Given the description of an element on the screen output the (x, y) to click on. 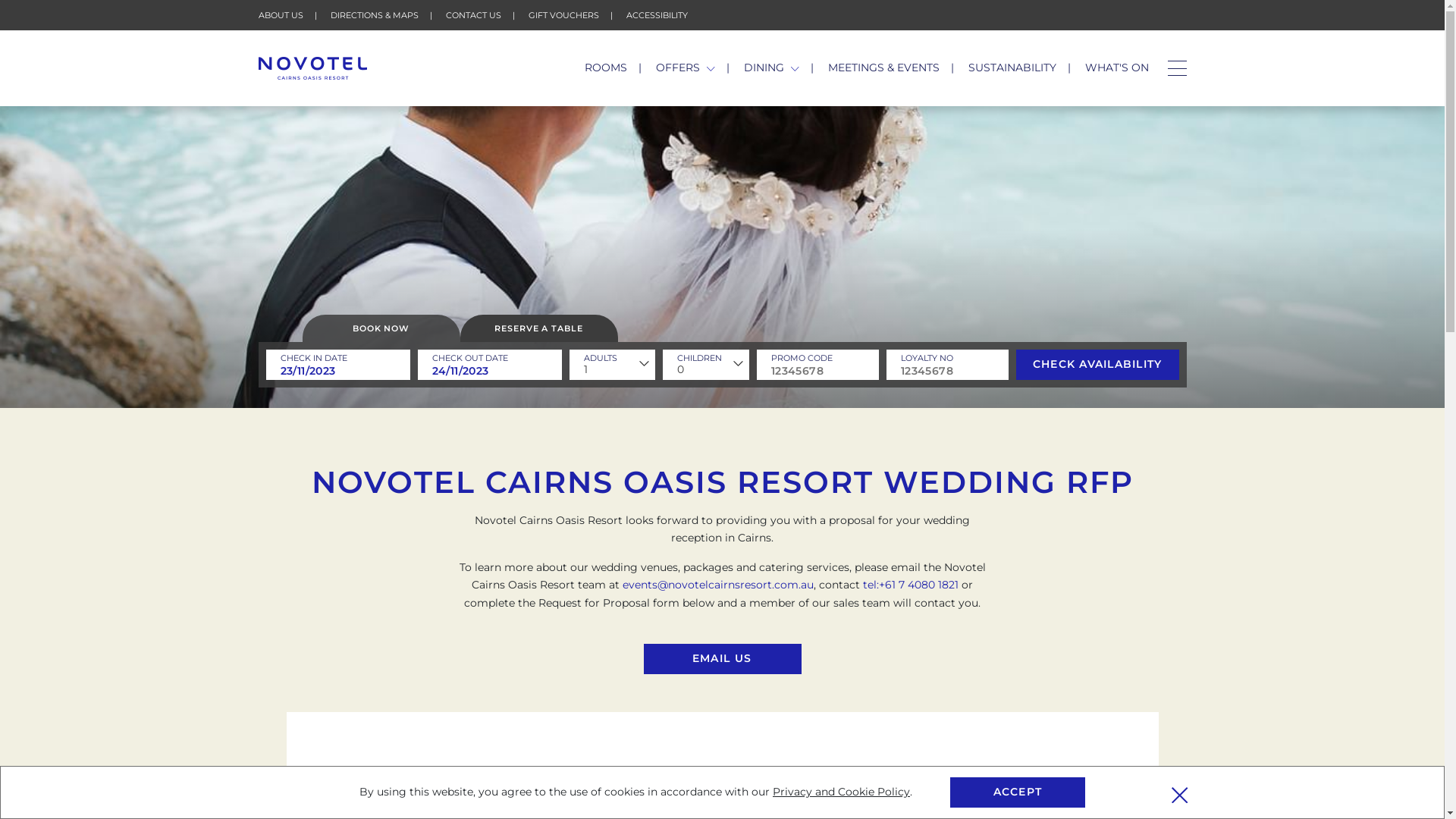
GIFT VOUCHERS
OPENS IN A NEW TAB. Element type: text (562, 14)
ACCESSIBILITY
OPENS IN A NEW TAB. Element type: text (656, 14)
DINING Element type: text (771, 67)
SUSTAINABILITY Element type: text (1011, 67)
RESERVE A TABLE Element type: text (538, 328)
MEETINGS & EVENTS Element type: text (883, 67)
ROOMS Element type: text (605, 67)
ACCEPT Element type: text (1017, 792)
CHECK AVAILABILITY Element type: text (1097, 364)
DIRECTIONS & MAPS Element type: text (374, 14)
WHAT'S ON Element type: text (1116, 67)
tel:+61 7 4080 1821 Element type: text (910, 584)
Privacy and Cookie Policy
Opens in a new tab. Element type: text (841, 791)
ABOUT US Element type: text (279, 14)
events@novotelcairnsresort.com.au Element type: text (717, 584)
EMAIL US
OPENS IN A NEW TAB. Element type: text (721, 658)
OFFERS Element type: text (685, 67)
CONTACT US Element type: text (473, 14)
BOOK NOW Element type: text (380, 328)
